Given the description of an element on the screen output the (x, y) to click on. 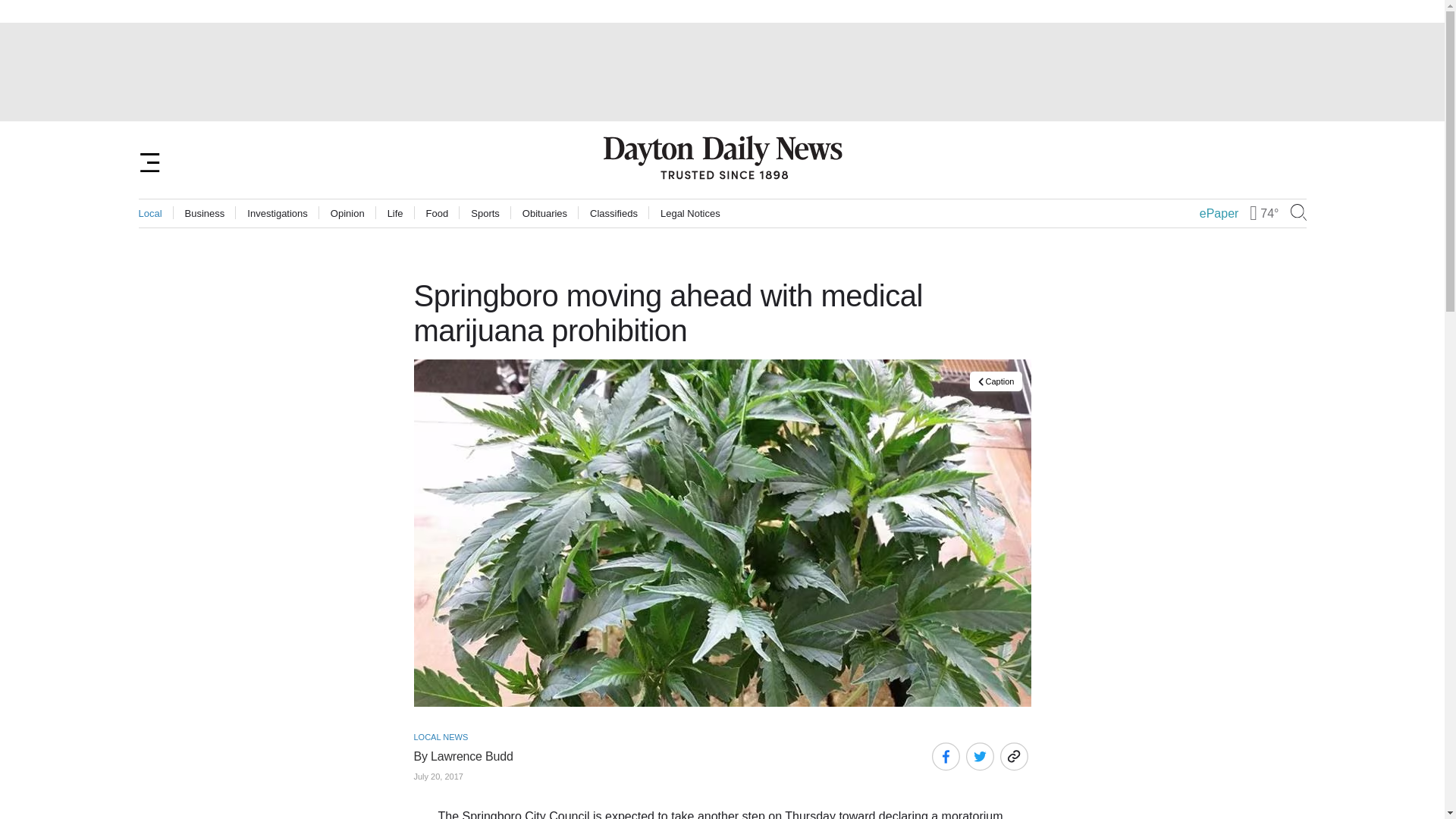
ePaper (1219, 214)
Sports (484, 213)
Business (204, 213)
Life (395, 213)
Obituaries (544, 213)
Investigations (277, 213)
Legal Notices (690, 213)
Opinion (347, 213)
Local (149, 213)
